Given the description of an element on the screen output the (x, y) to click on. 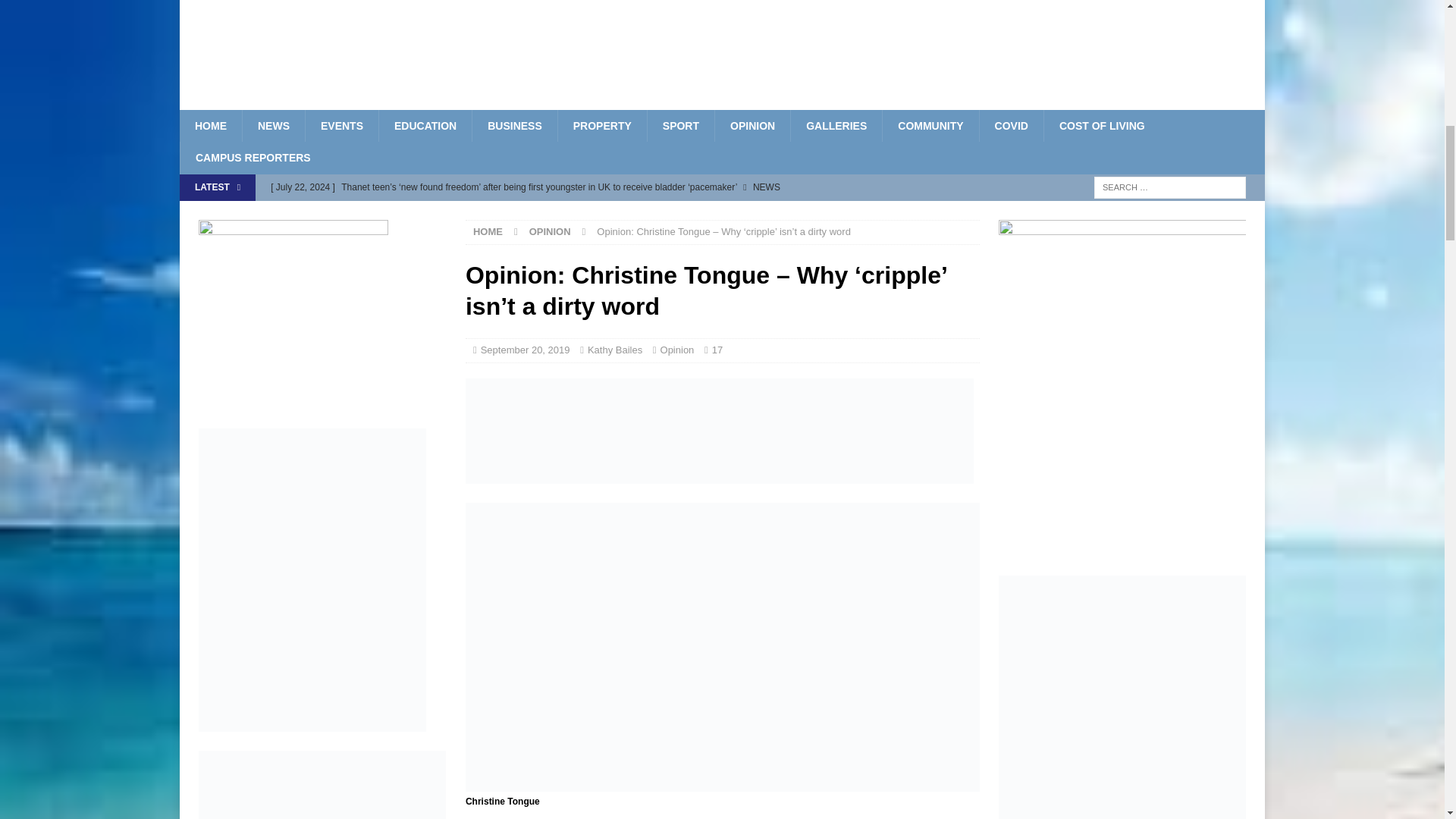
17 (716, 349)
